Given the description of an element on the screen output the (x, y) to click on. 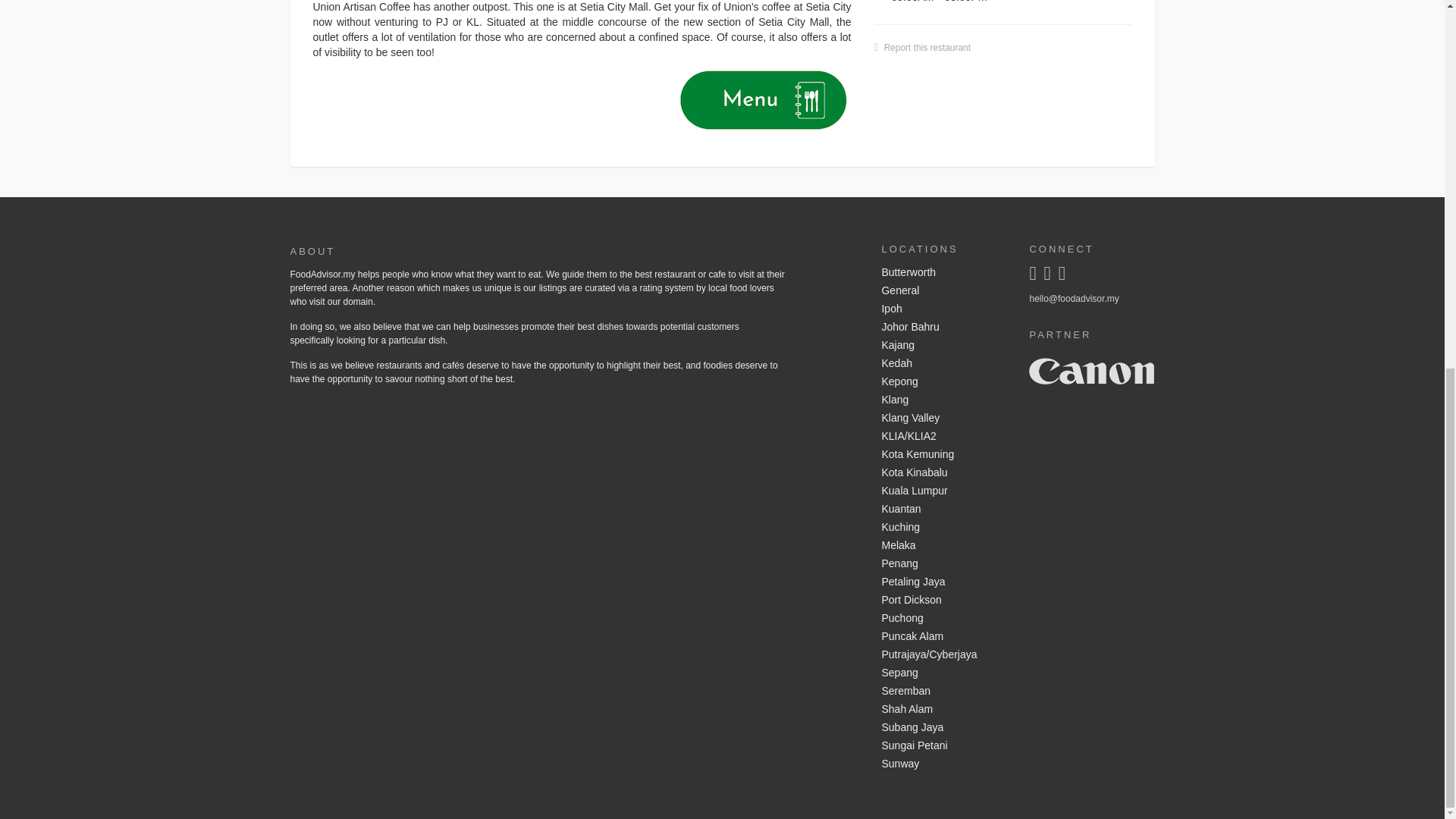
Klang (943, 400)
Johor Bahru (943, 327)
Kedah (943, 363)
Report this restaurant (927, 47)
Kota Kinabalu (943, 473)
Kepong (943, 382)
Klang Valley (943, 418)
Ipoh (943, 309)
Kajang (943, 345)
General (943, 290)
Kota Kemuning (943, 454)
Butterworth (943, 272)
